Given the description of an element on the screen output the (x, y) to click on. 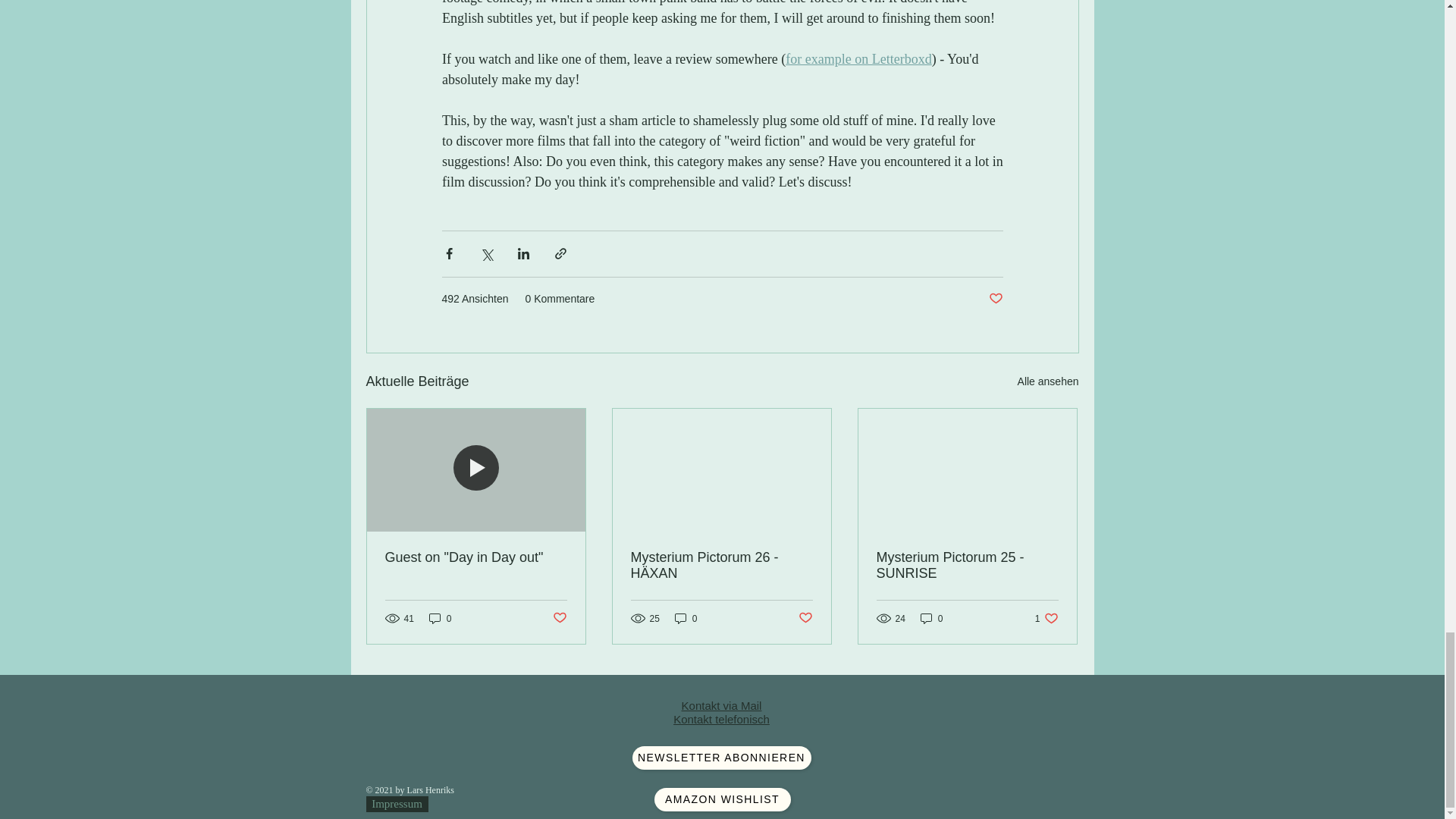
for example on Letterboxd (858, 58)
